Given the description of an element on the screen output the (x, y) to click on. 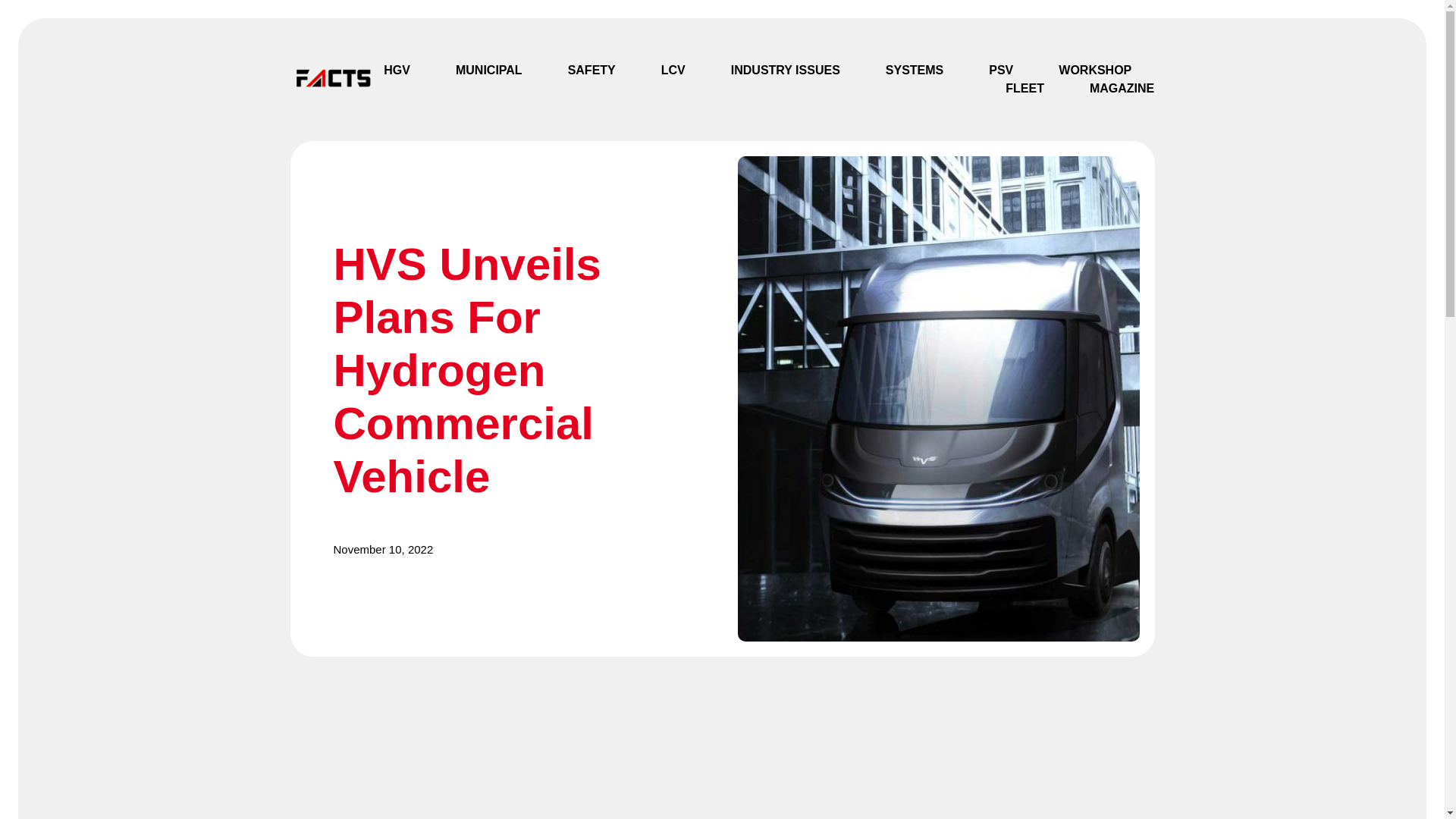
LCV (673, 70)
HGV (397, 70)
MUNICIPAL (488, 70)
INDUSTRY ISSUES (785, 70)
WORKSHOP (1094, 70)
MAGAZINE (1121, 88)
FLEET (1024, 88)
SAFETY (591, 70)
PSV (1000, 70)
SYSTEMS (914, 70)
